Given the description of an element on the screen output the (x, y) to click on. 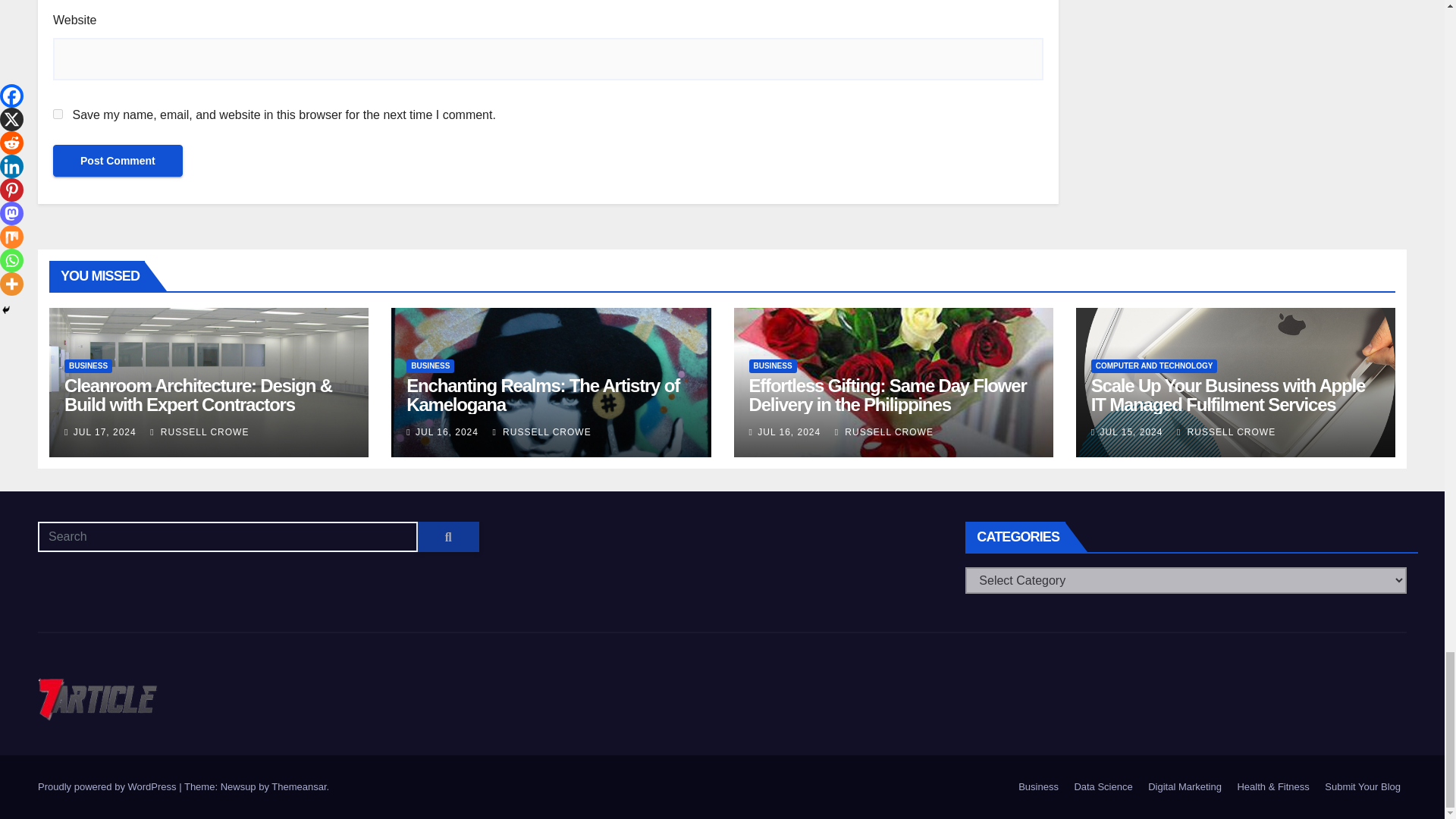
Post Comment (117, 160)
yes (57, 113)
